Given the description of an element on the screen output the (x, y) to click on. 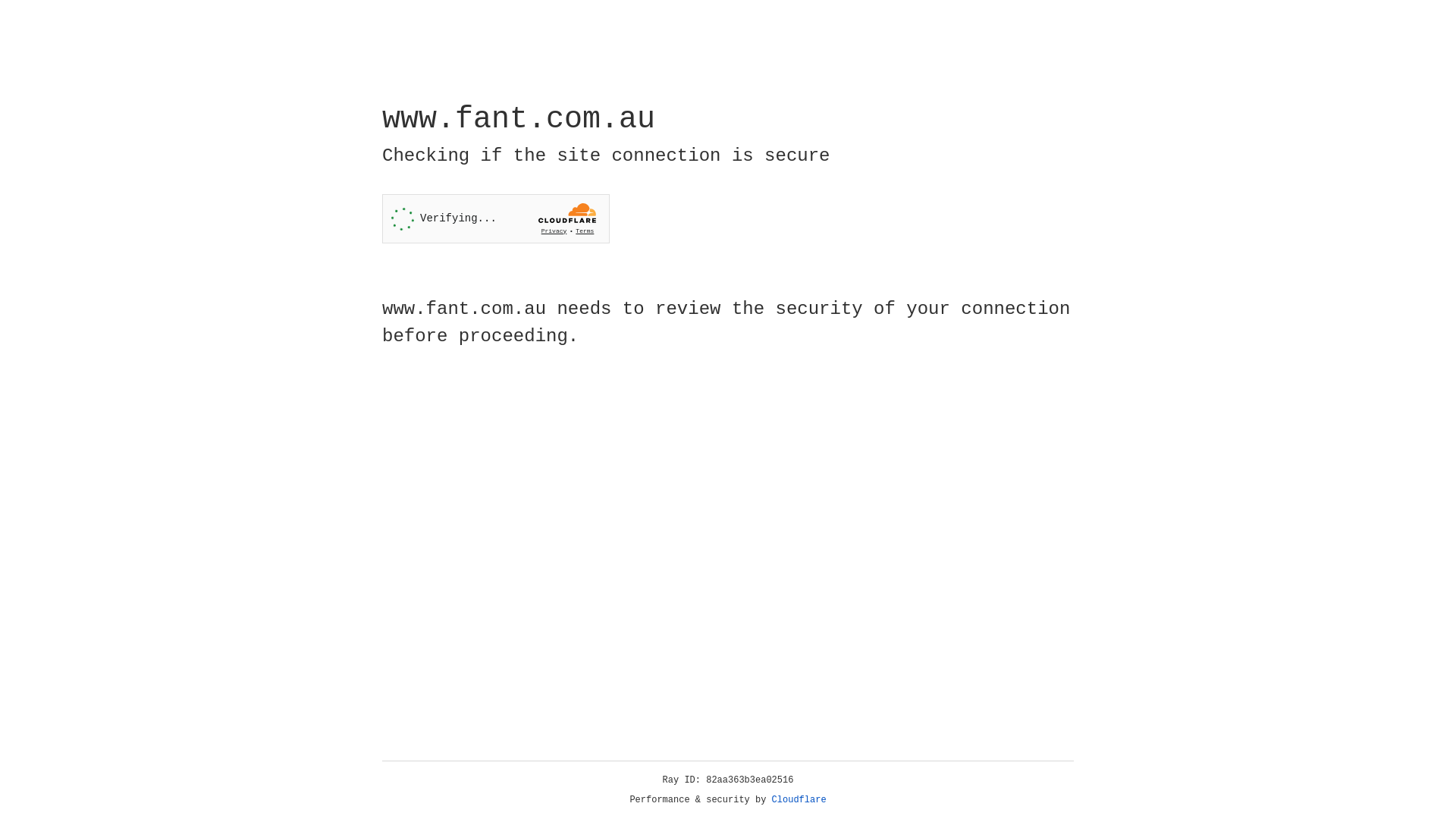
Cloudflare Element type: text (798, 799)
